Given the description of an element on the screen output the (x, y) to click on. 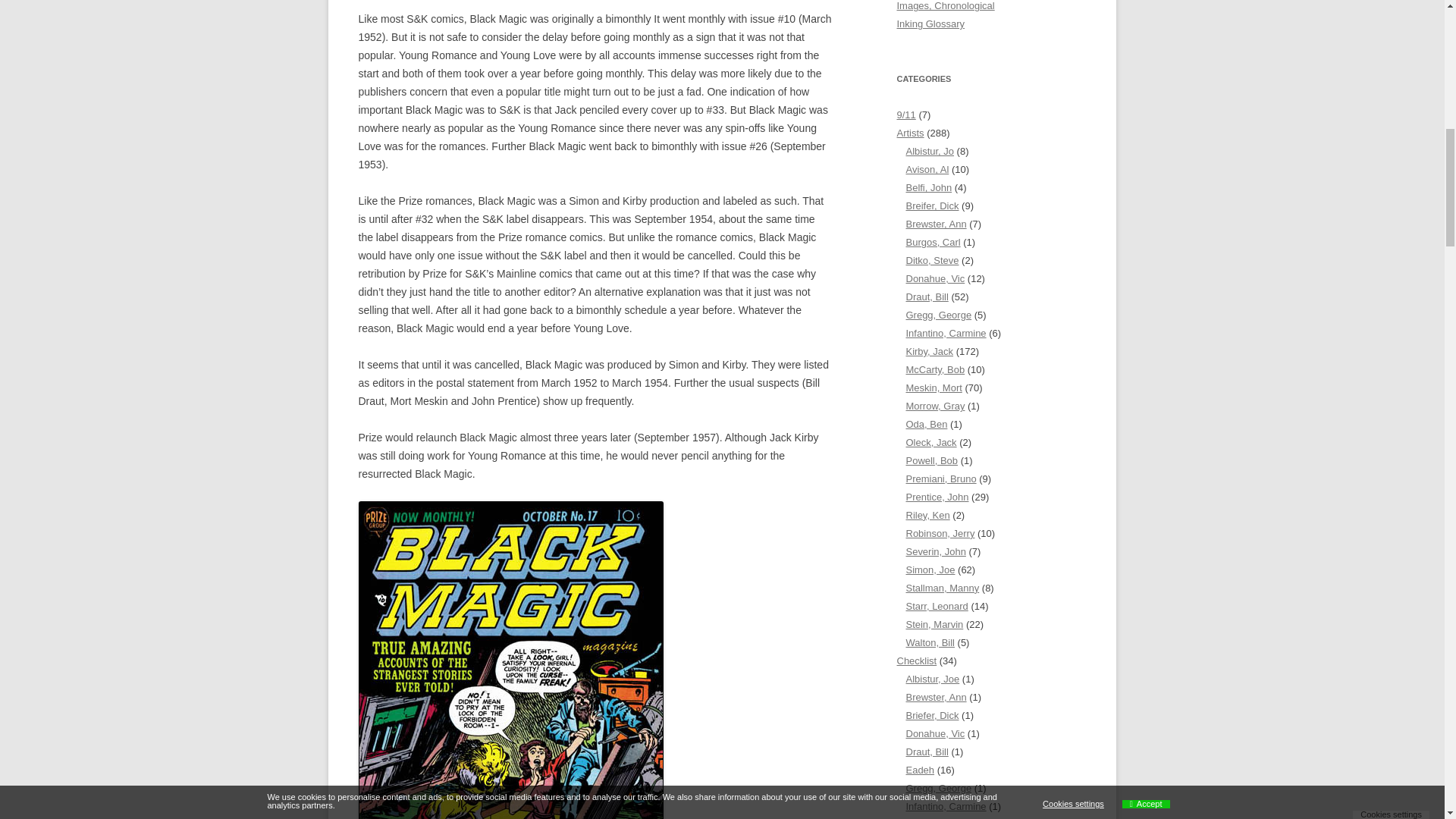
Images, Chronological (945, 5)
Inking Glossary (929, 23)
Artists (909, 132)
Breifer, Dick (931, 205)
Avison, Al (927, 169)
Belfi, John (928, 187)
Albistur, Jo (929, 151)
